Given the description of an element on the screen output the (x, y) to click on. 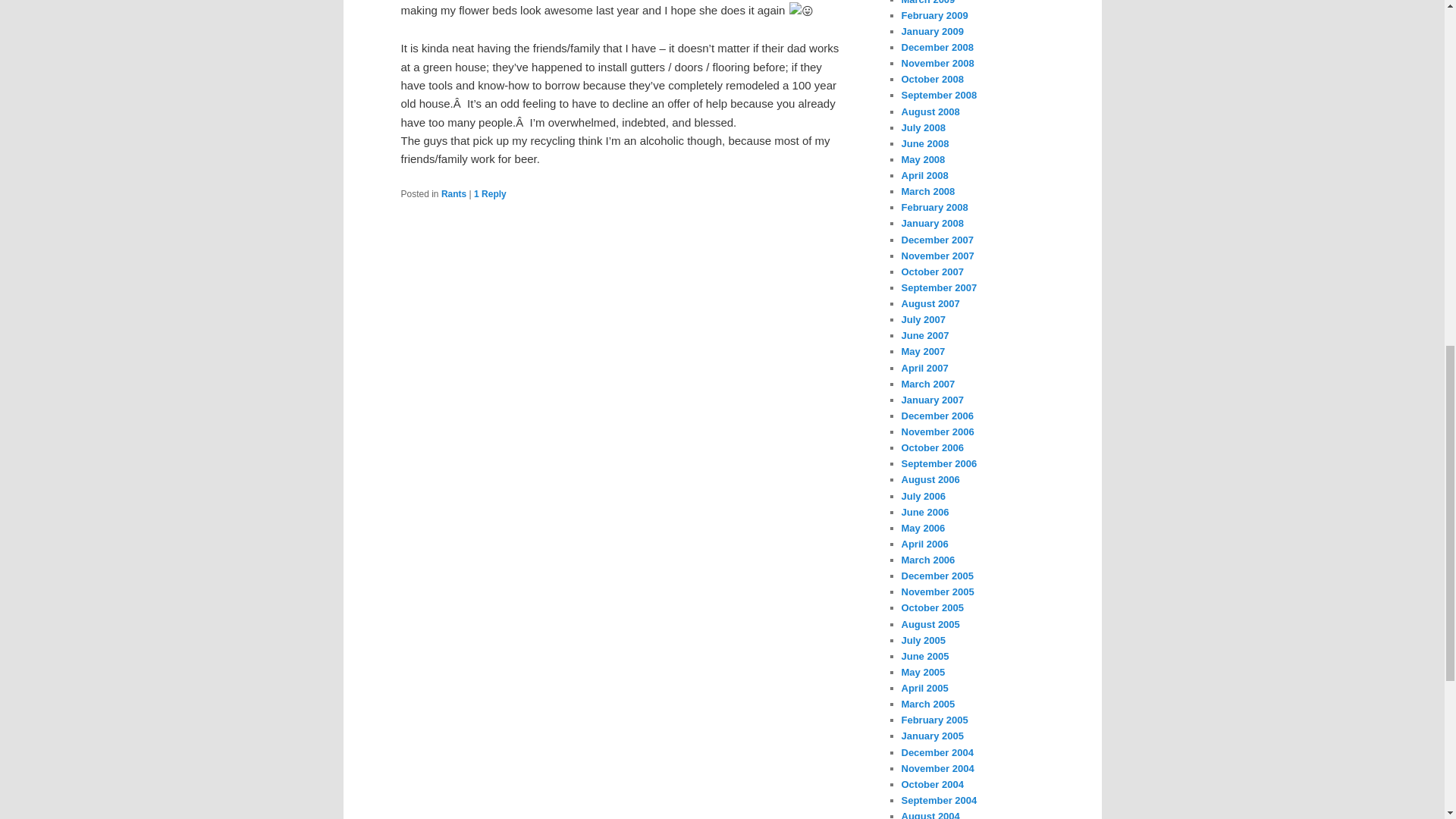
February 2009 (934, 15)
January 2009 (931, 30)
March 2009 (928, 2)
Rants (453, 194)
1 Reply (490, 194)
